Given the description of an element on the screen output the (x, y) to click on. 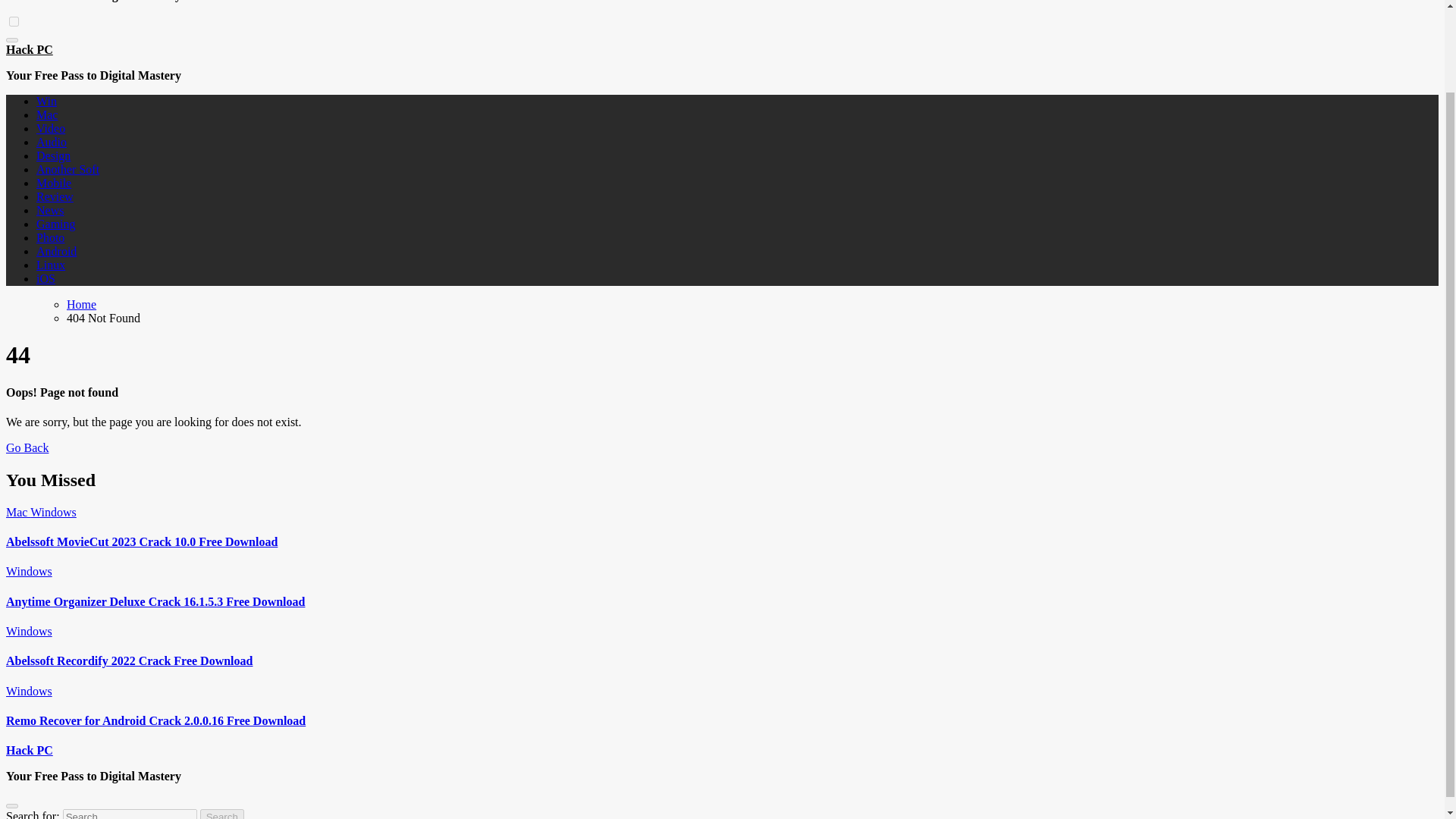
Another Soft (67, 169)
Mobile (53, 182)
on (13, 21)
Audio (51, 141)
Gaming (55, 223)
Linux (50, 264)
Android (56, 250)
Hack PC (28, 749)
Photo (50, 237)
iOS (45, 278)
